Given the description of an element on the screen output the (x, y) to click on. 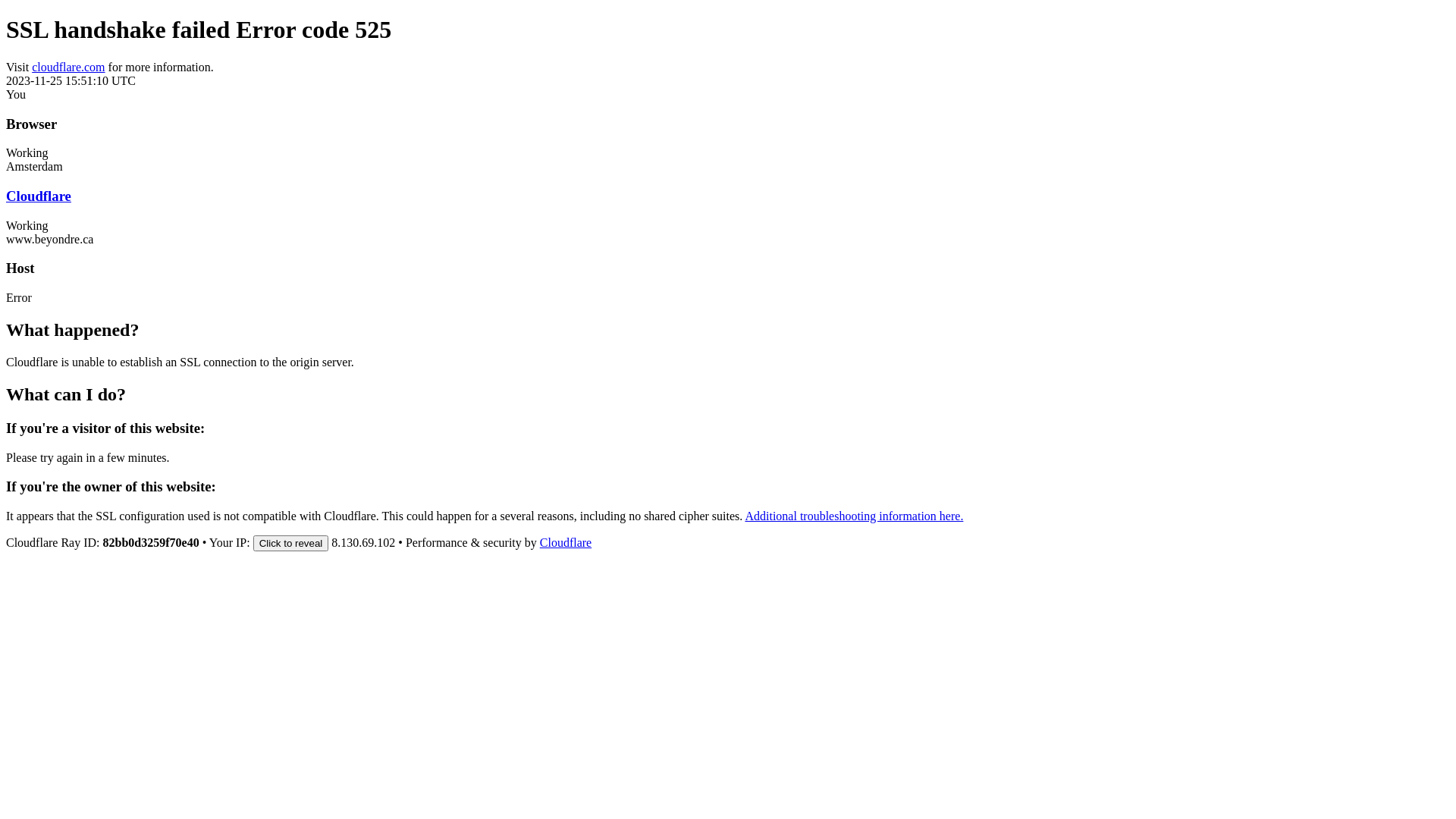
Additional troubleshooting information here. Element type: text (853, 515)
Cloudflare Element type: text (38, 195)
Click to reveal Element type: text (291, 543)
cloudflare.com Element type: text (67, 66)
Cloudflare Element type: text (565, 542)
